Given the description of an element on the screen output the (x, y) to click on. 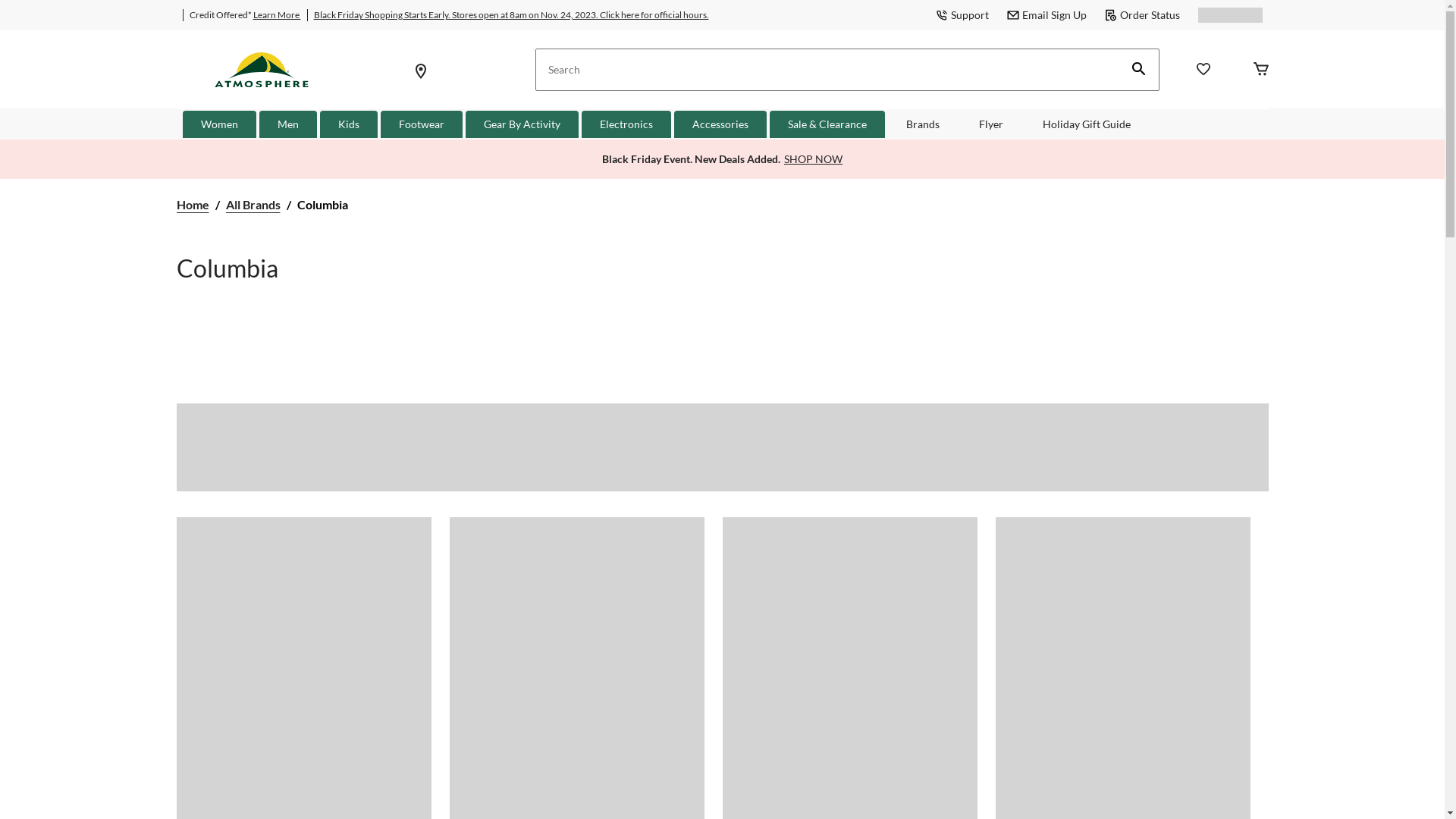
All Brands Element type: text (252, 205)
Kids Element type: text (348, 124)
Learn More  Element type: text (277, 14)
Women Element type: text (219, 124)
Order Status Element type: text (1141, 14)
Support Element type: text (961, 14)
Electronics Element type: text (626, 124)
Home Element type: text (191, 205)
Sale & Clearance Element type: text (826, 124)
Columbia Element type: text (322, 205)
Brands Element type: text (922, 124)
Holiday Gift Guide Element type: text (1086, 124)
Flyer Element type: text (990, 124)
SHOP NOW Element type: text (812, 158)
Email Sign Up Element type: text (1046, 14)
Accessories Element type: text (720, 124)
Men Element type: text (287, 124)
Footwear Element type: text (421, 124)
a11yWishlist Element type: text (1202, 70)
Gear By Activity Element type: text (521, 124)
